Given the description of an element on the screen output the (x, y) to click on. 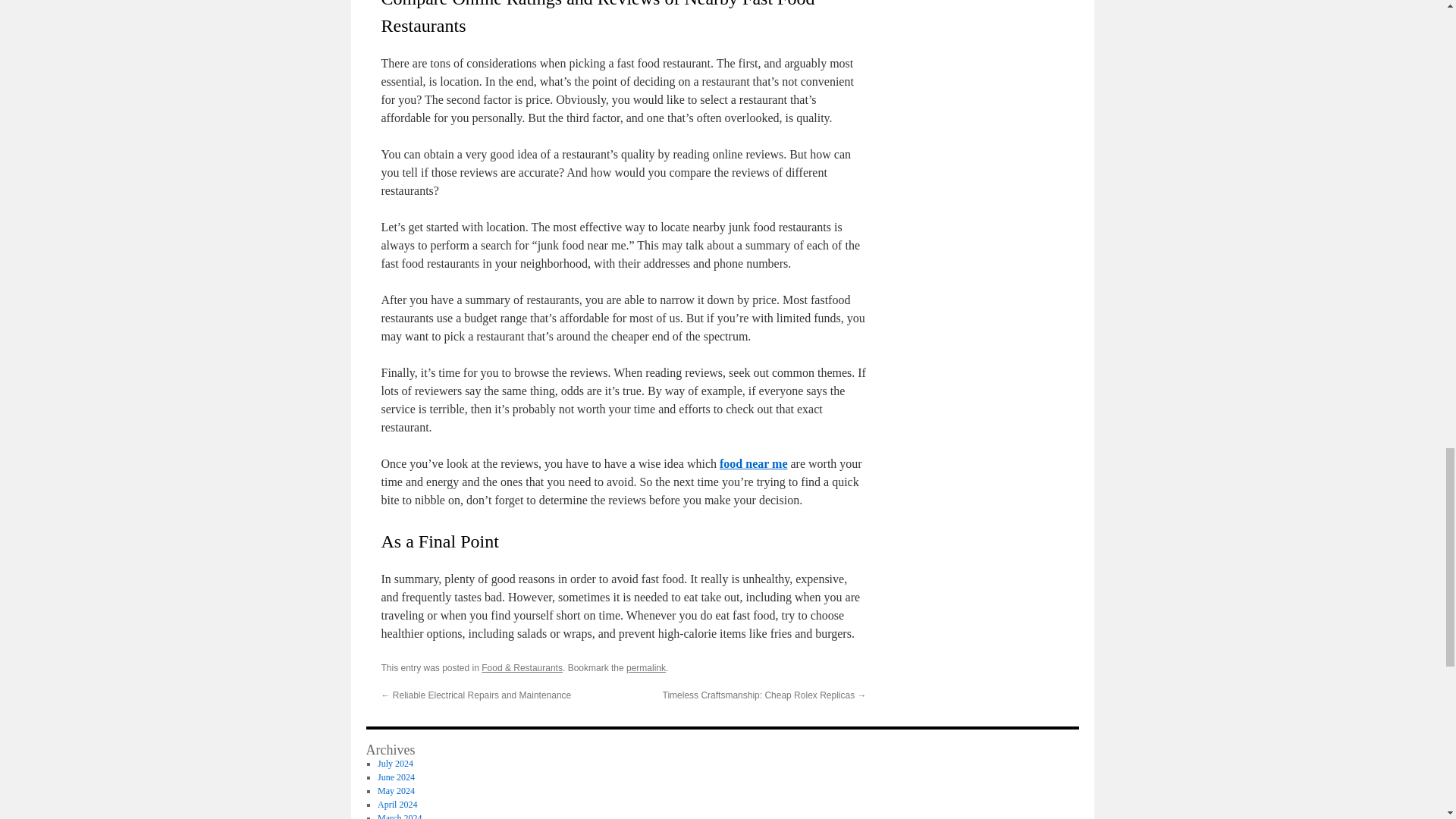
May 2024 (395, 790)
July 2024 (395, 763)
permalink (645, 667)
Permalink to Delicious Convenience: Fast Food Near Me (645, 667)
June 2024 (395, 777)
March 2024 (399, 816)
April 2024 (396, 804)
food near me (753, 463)
